Given the description of an element on the screen output the (x, y) to click on. 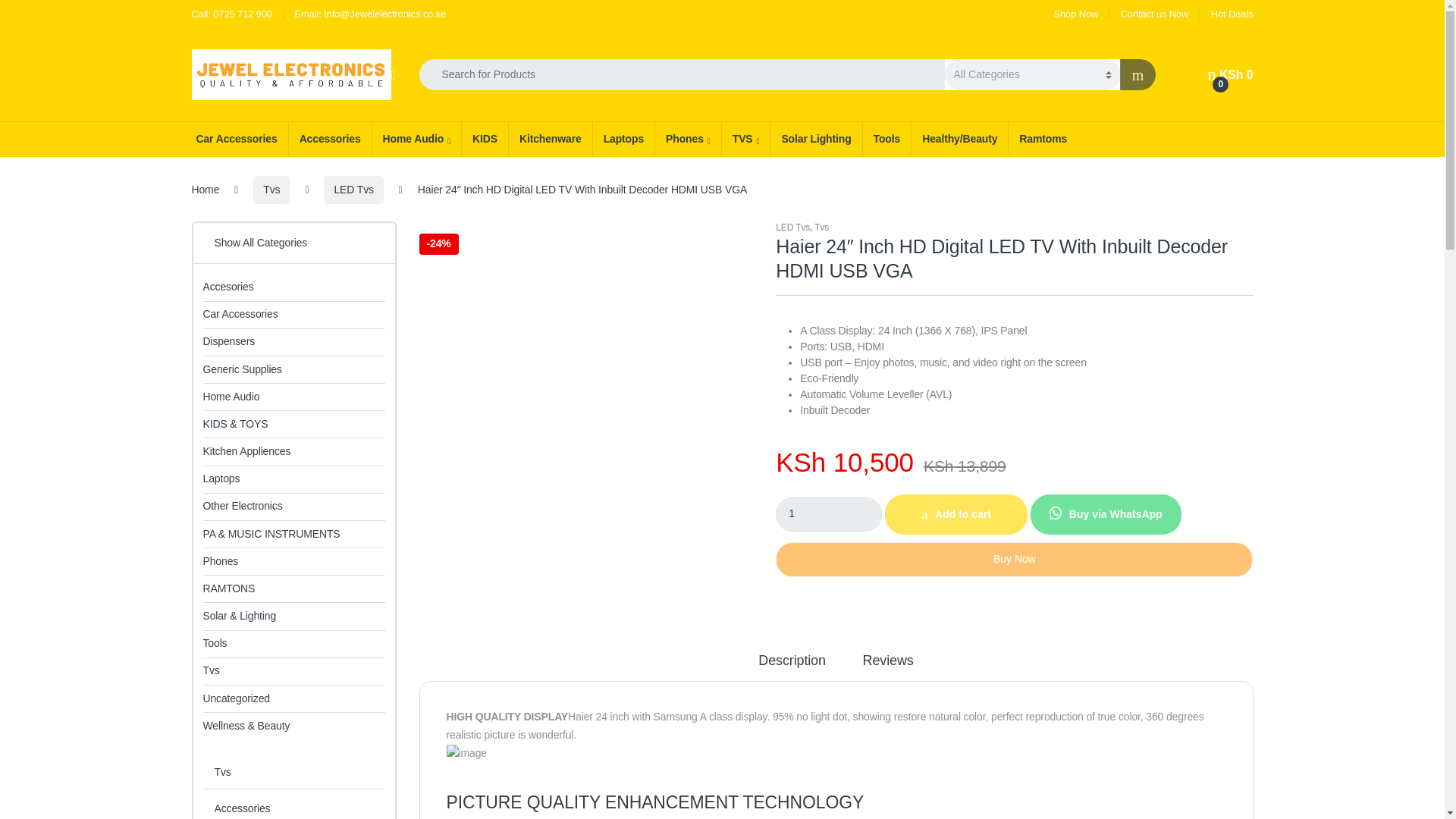
KIDS (484, 139)
Hot Deals (1232, 13)
1 (829, 514)
Call: 0725 712 900 (231, 13)
Contact us Now (1155, 13)
Shop Now (1076, 13)
Home Audio (416, 139)
Shop Now (1076, 13)
Contact us Now (1155, 13)
Call: 0725 712 900 (231, 13)
